Given the description of an element on the screen output the (x, y) to click on. 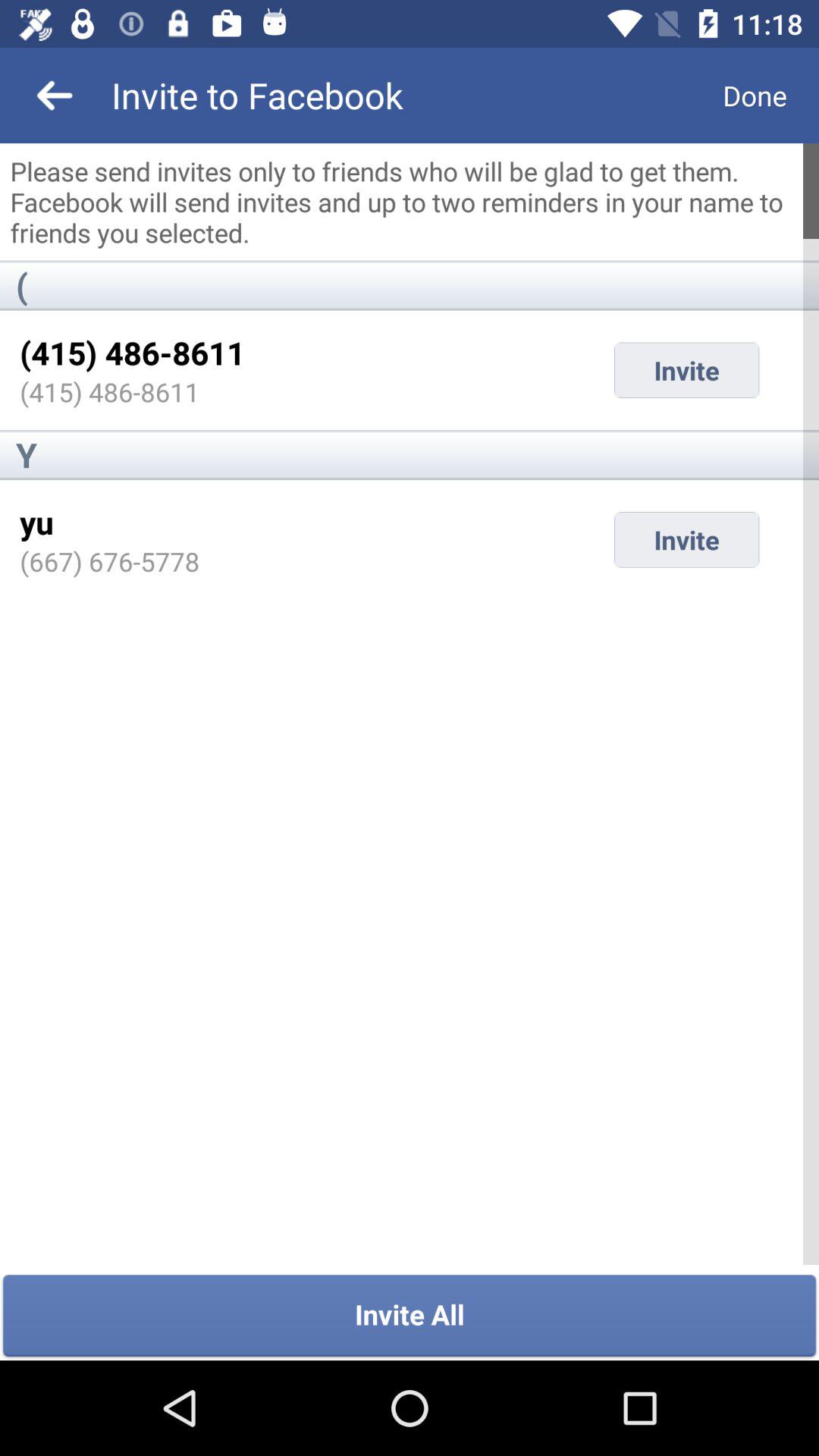
launch the yu icon (36, 521)
